Given the description of an element on the screen output the (x, y) to click on. 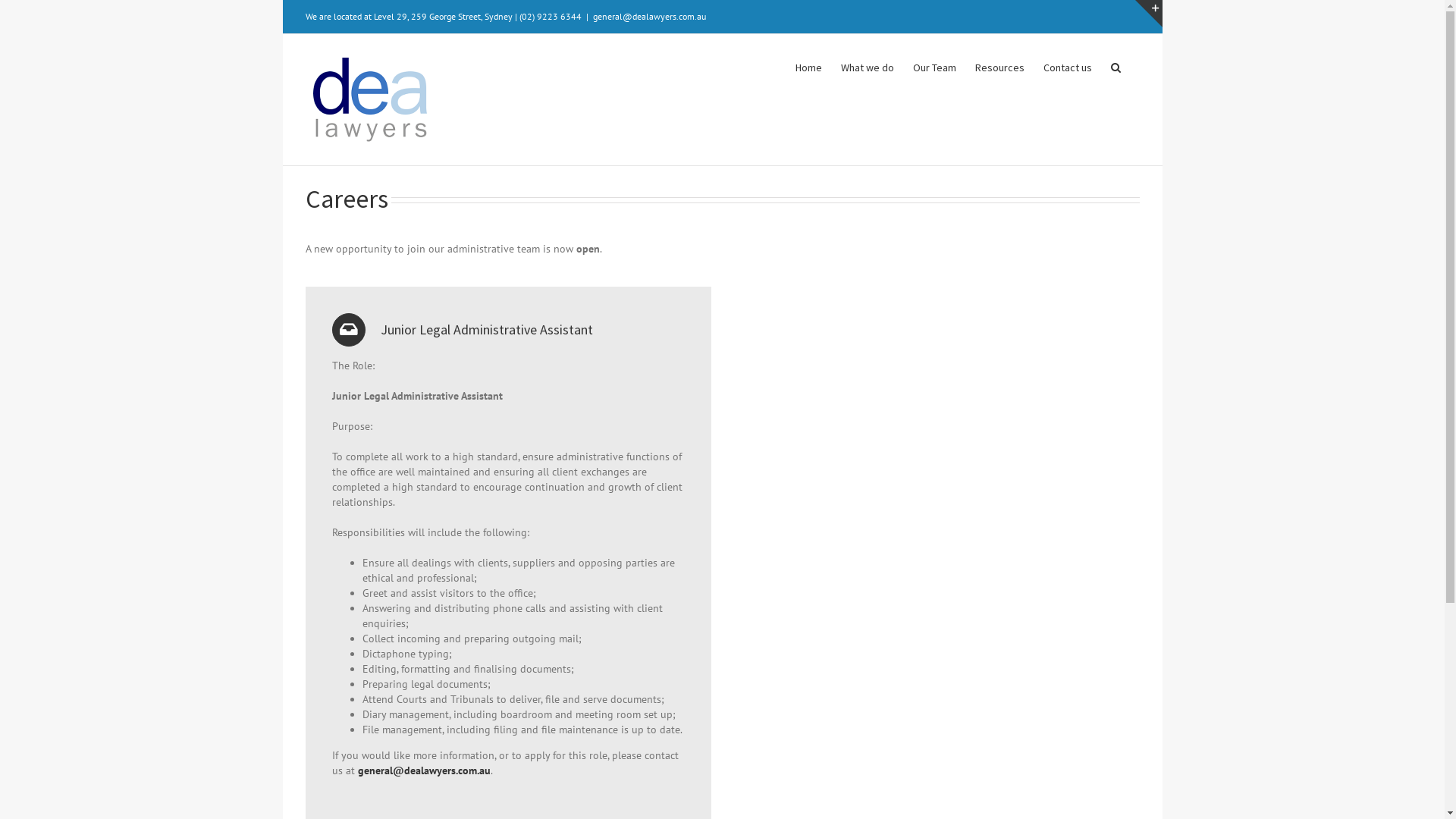
Our Team Element type: text (934, 65)
Home Element type: text (807, 65)
Toggle Sliding Bar Area Element type: text (1147, 13)
general@dealawyers.com.au Element type: text (423, 770)
Contact us Element type: text (1067, 65)
Search Element type: hover (1115, 65)
What we do Element type: text (866, 65)
general@dealawyers.com.au Element type: text (649, 15)
Resources Element type: text (999, 65)
